Given the description of an element on the screen output the (x, y) to click on. 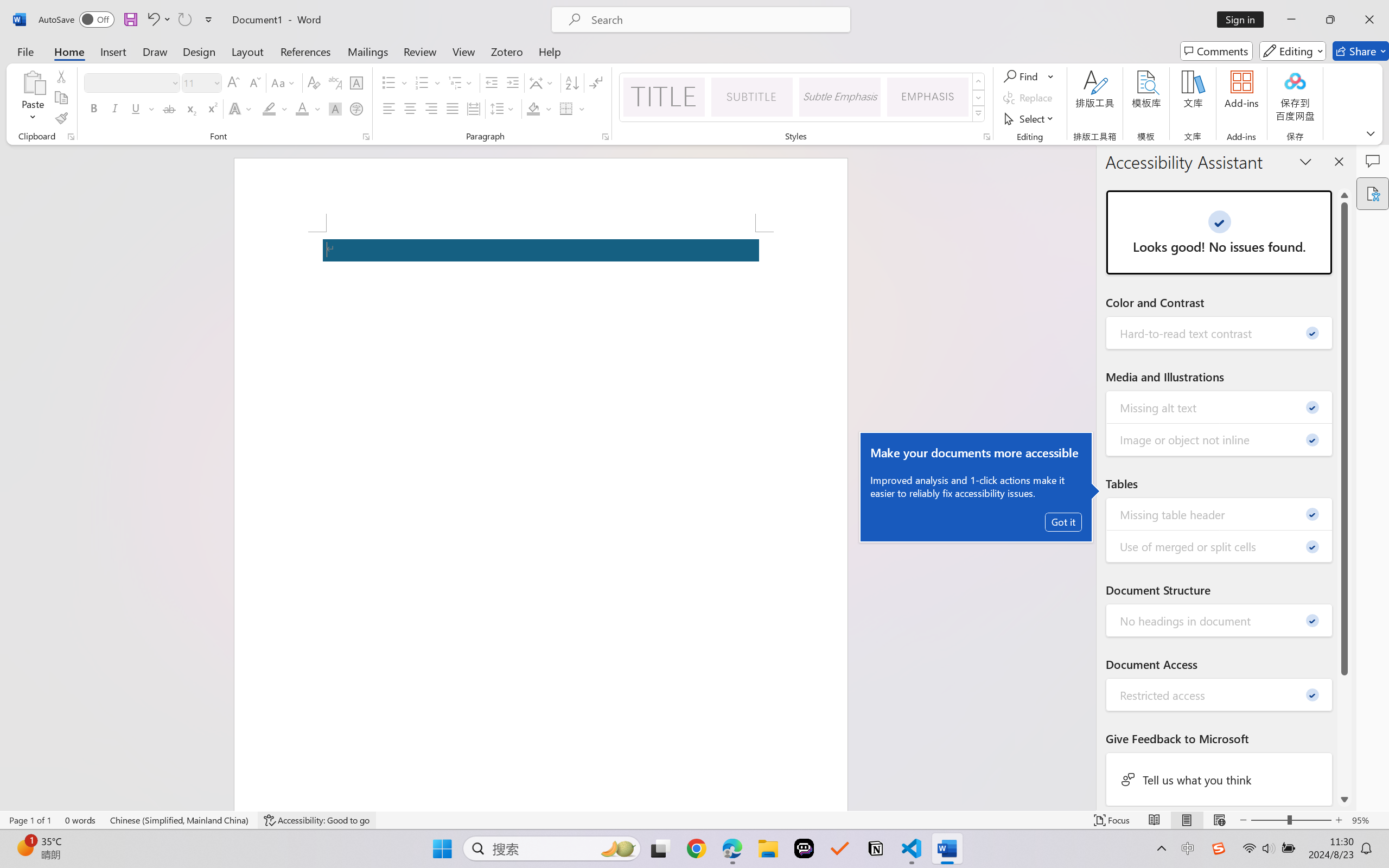
AutomationID: QuickStylesGallery (802, 97)
Font Color RGB(255, 0, 0) (302, 108)
No headings in document - 0 (1219, 620)
Use of merged or split cells - 0 (1219, 546)
Shading No Color (533, 108)
Title (663, 96)
Line down (1344, 799)
